Given the description of an element on the screen output the (x, y) to click on. 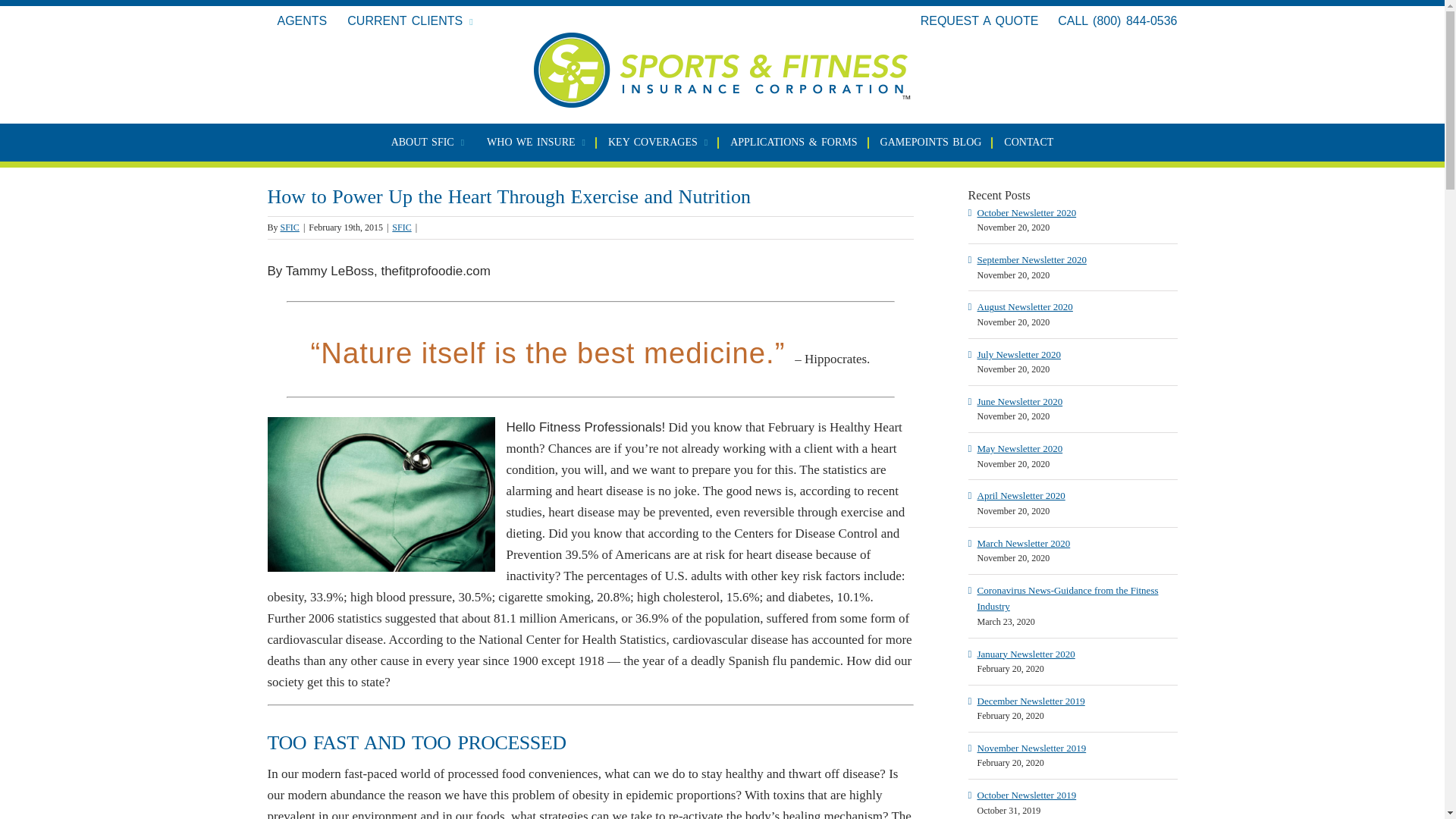
WHO WE INSURE (535, 142)
CURRENT CLIENTS (409, 20)
GAMEPOINTS BLOG (930, 142)
ABOUT SFIC (427, 142)
CONTACT (1028, 142)
KEY COVERAGES (657, 142)
Posts by SFIC (290, 226)
REQUEST A QUOTE (979, 20)
AGENTS (301, 20)
